Given the description of an element on the screen output the (x, y) to click on. 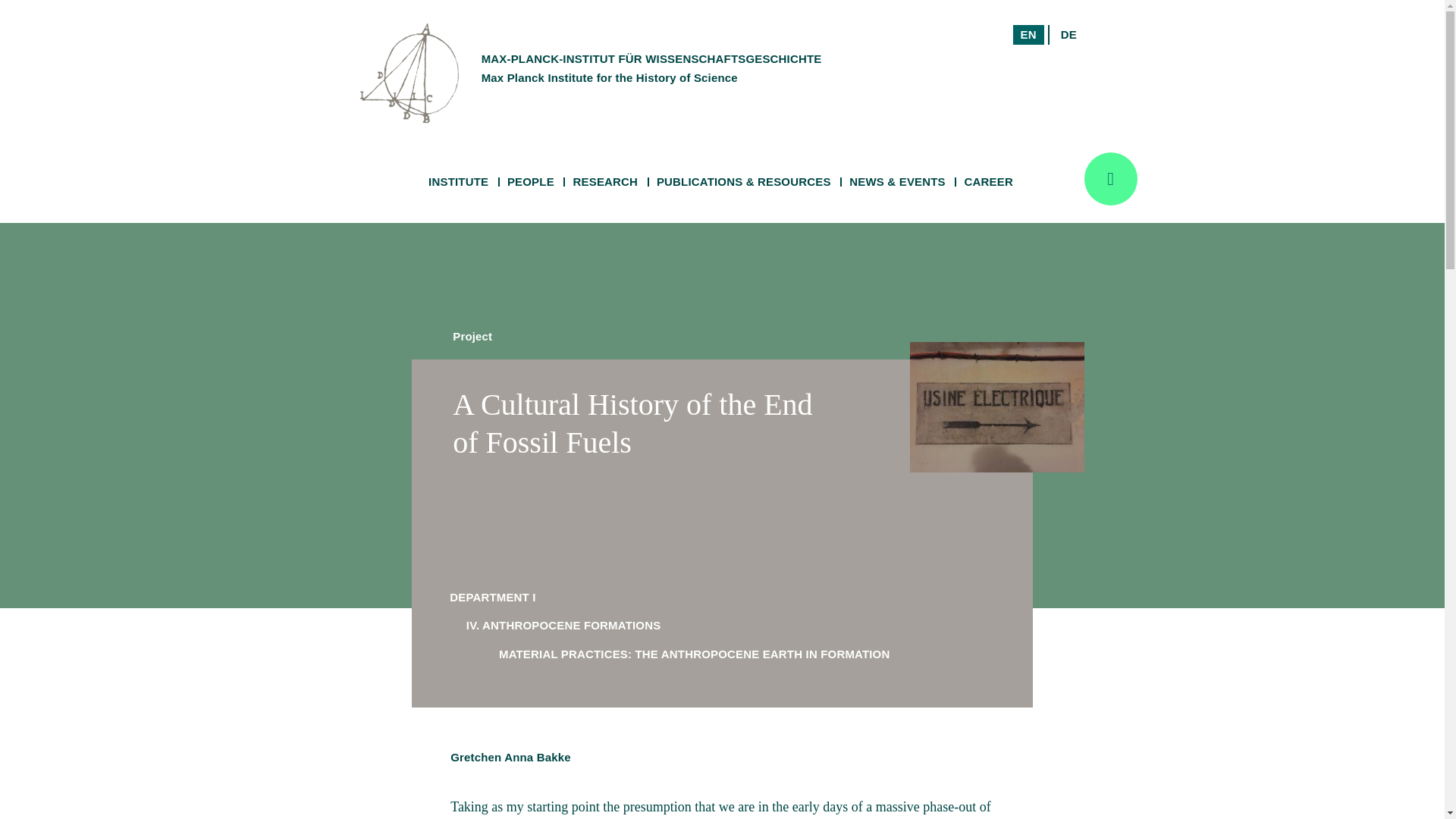
INSTITUTE (458, 181)
PEOPLE (531, 181)
DE (1068, 35)
RESEARCH (604, 181)
EN (1013, 52)
